Given the description of an element on the screen output the (x, y) to click on. 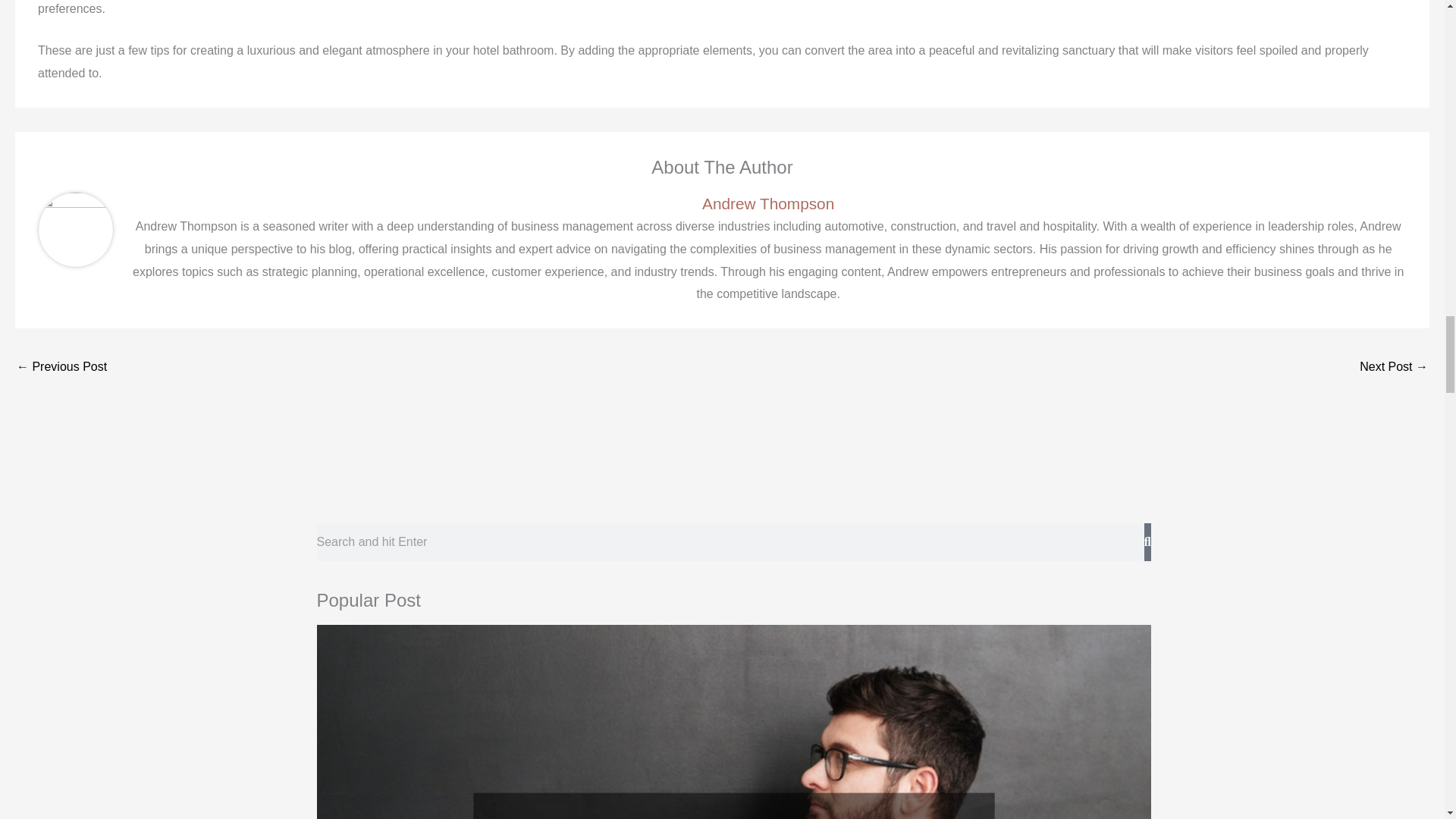
Andrew Thompson (767, 203)
What Your Business Needs in Technology Instantly (1393, 367)
